Given the description of an element on the screen output the (x, y) to click on. 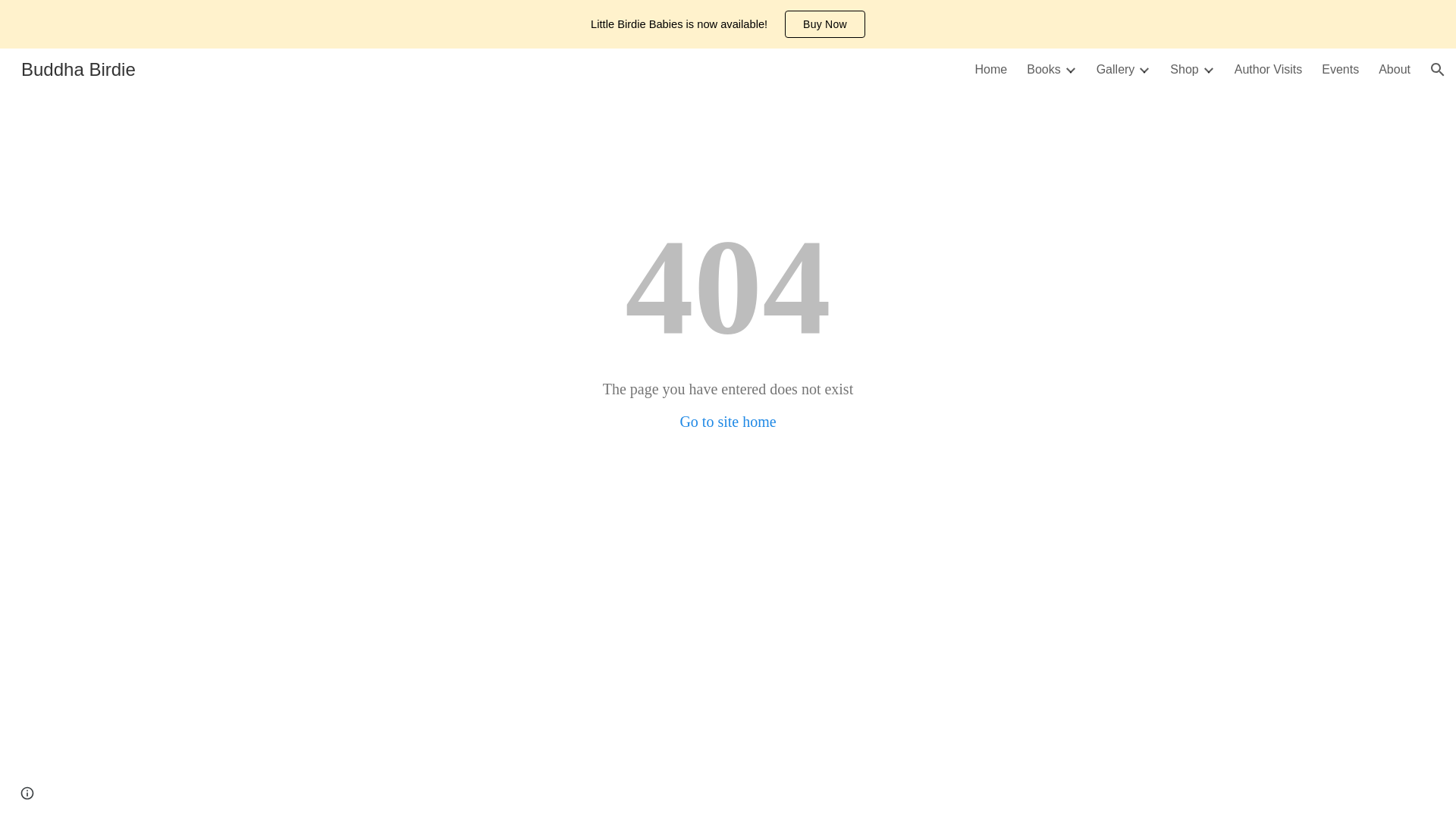
Shop (1184, 69)
Buddha Birdie (77, 67)
Events (1340, 69)
Books (1042, 69)
Gallery (1115, 69)
About (1394, 69)
Buy Now (825, 23)
Buy Now (824, 23)
Home (991, 69)
Author Visits (1268, 69)
